Given the description of an element on the screen output the (x, y) to click on. 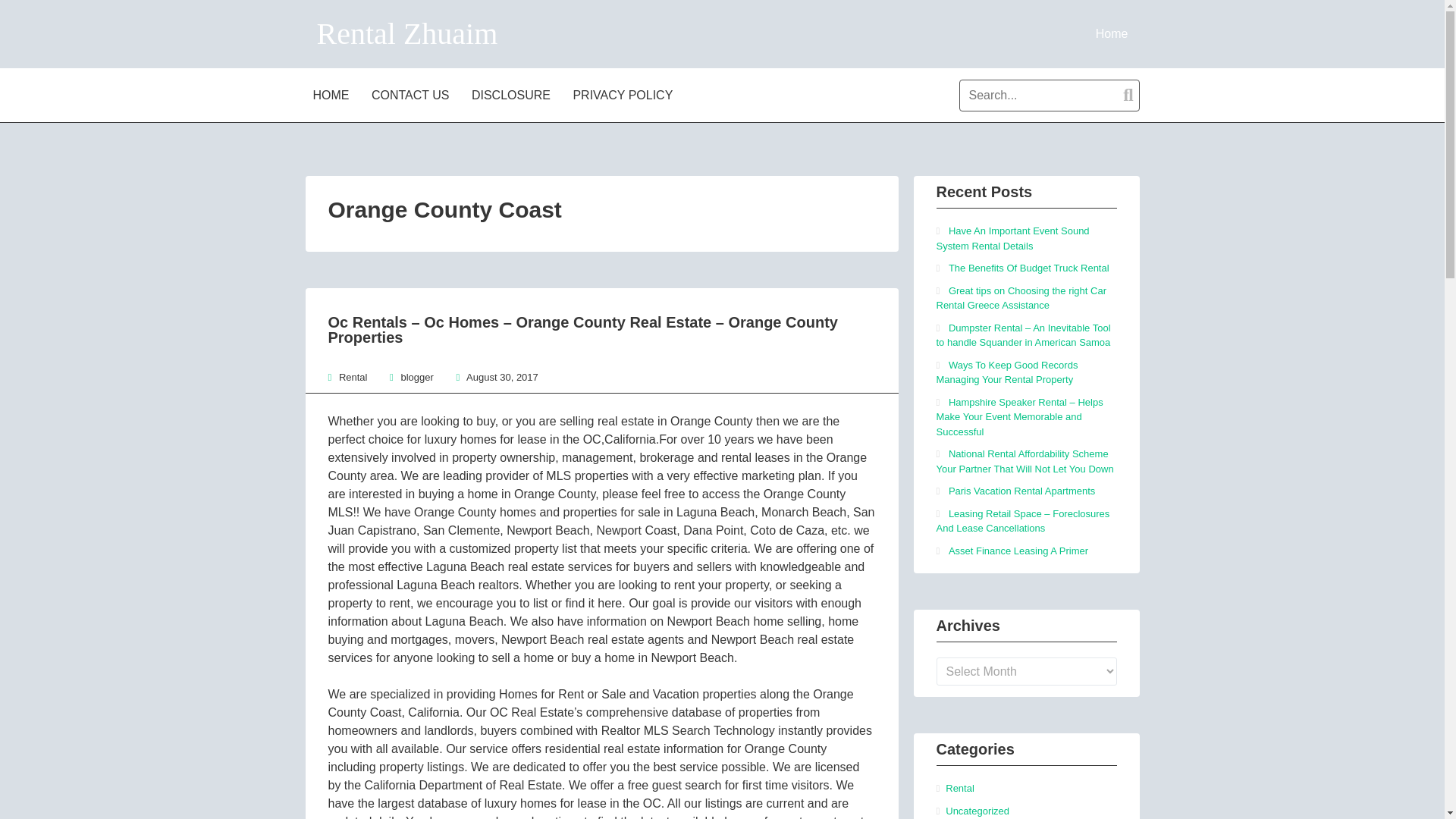
Just about rental reviews (1112, 33)
Rental Zhuaim (407, 33)
August 30, 2017 (501, 377)
Asset Finance Leasing A Primer (1018, 550)
SKIP TO CONTENT (358, 94)
blogger (416, 377)
Home (1112, 33)
HOME (331, 94)
CONTACT US (412, 94)
Rental (353, 377)
Uncategorized (976, 810)
Search for: (1048, 95)
DISCLOSURE (513, 94)
Paris Vacation Rental Apartments (1021, 490)
